Given the description of an element on the screen output the (x, y) to click on. 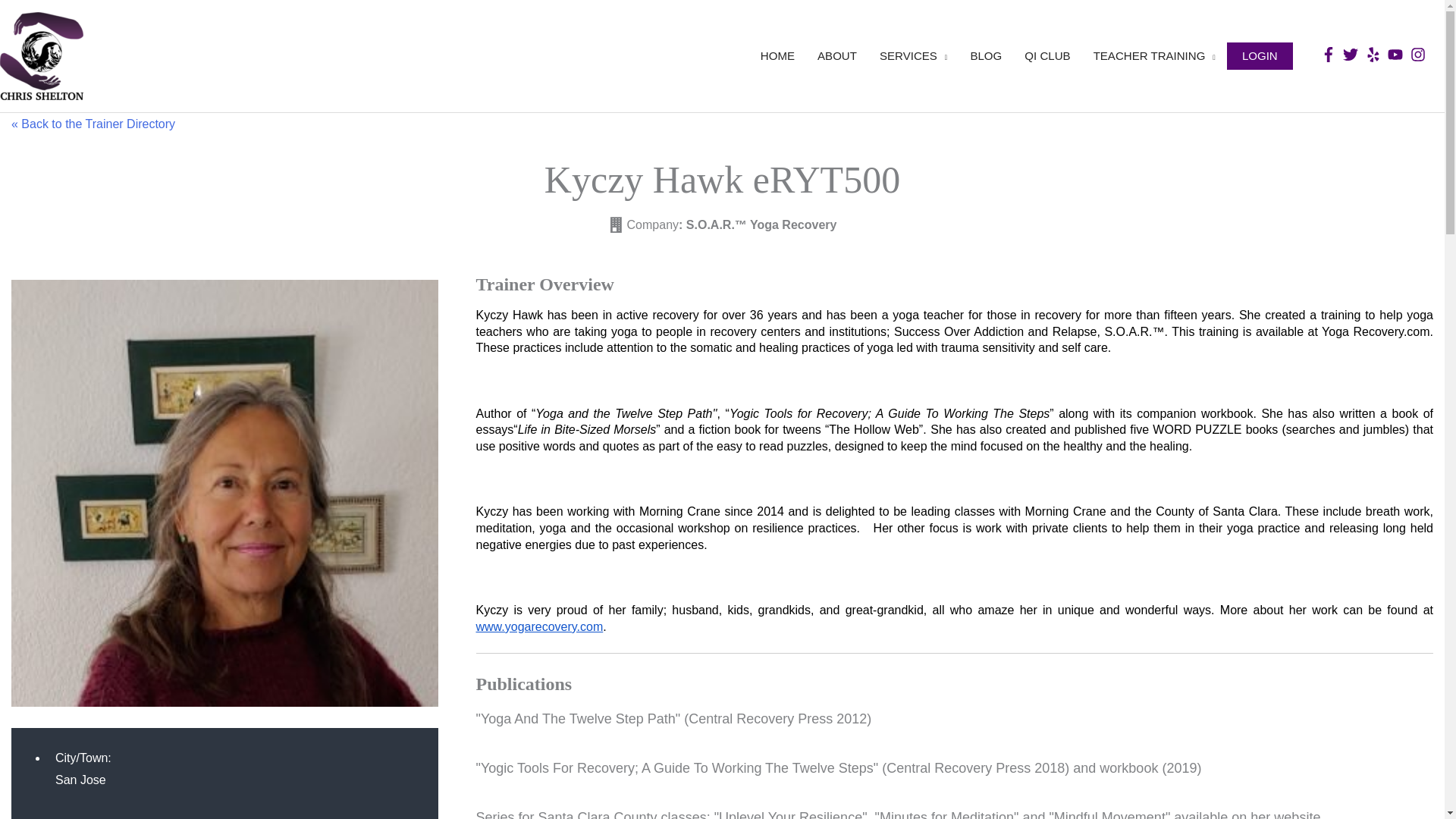
www.yogarecovery.com (540, 626)
TEACHER TRAINING (1154, 56)
LOGIN (1259, 55)
